Given the description of an element on the screen output the (x, y) to click on. 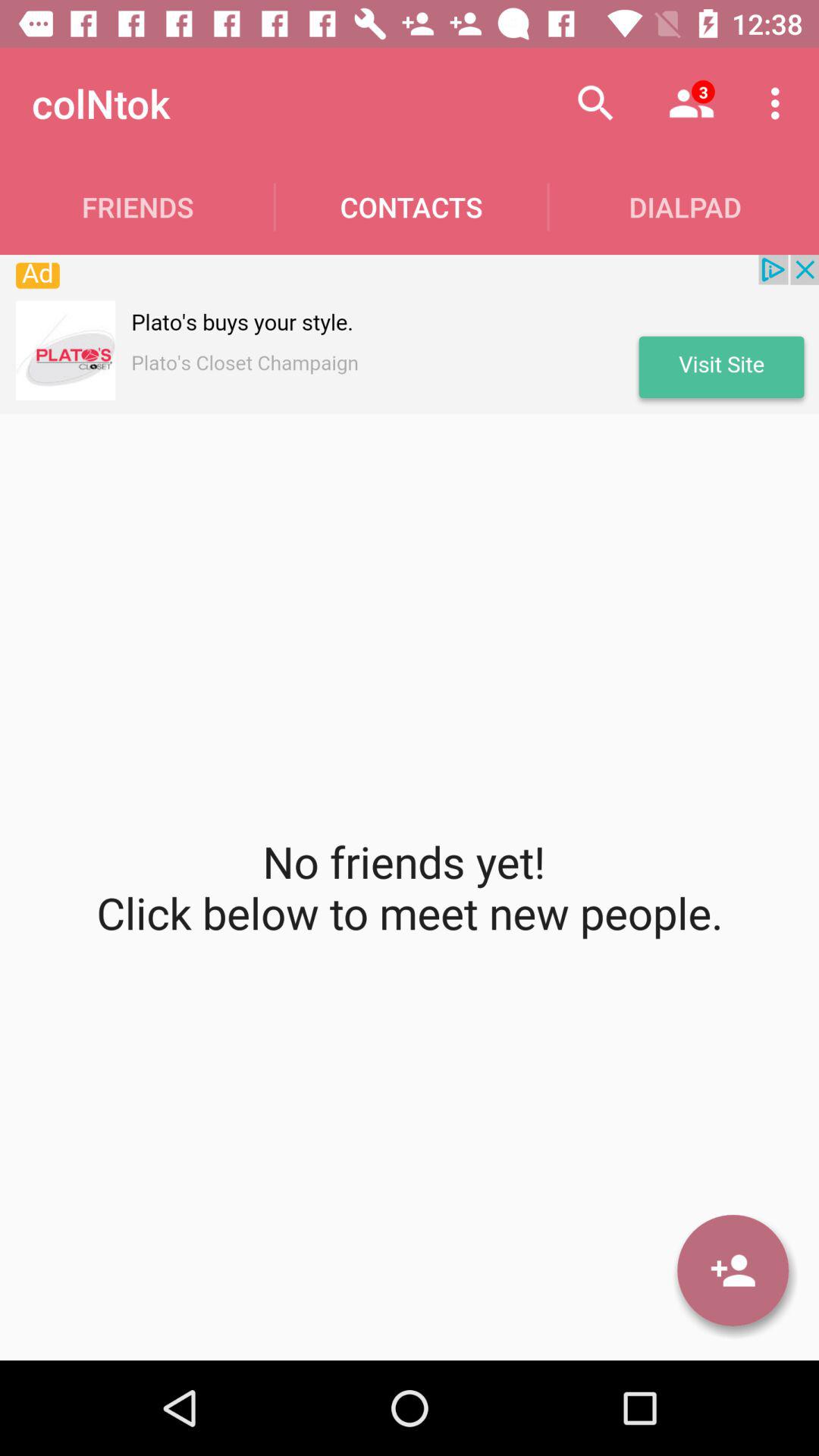
advertisement (409, 334)
